Given the description of an element on the screen output the (x, y) to click on. 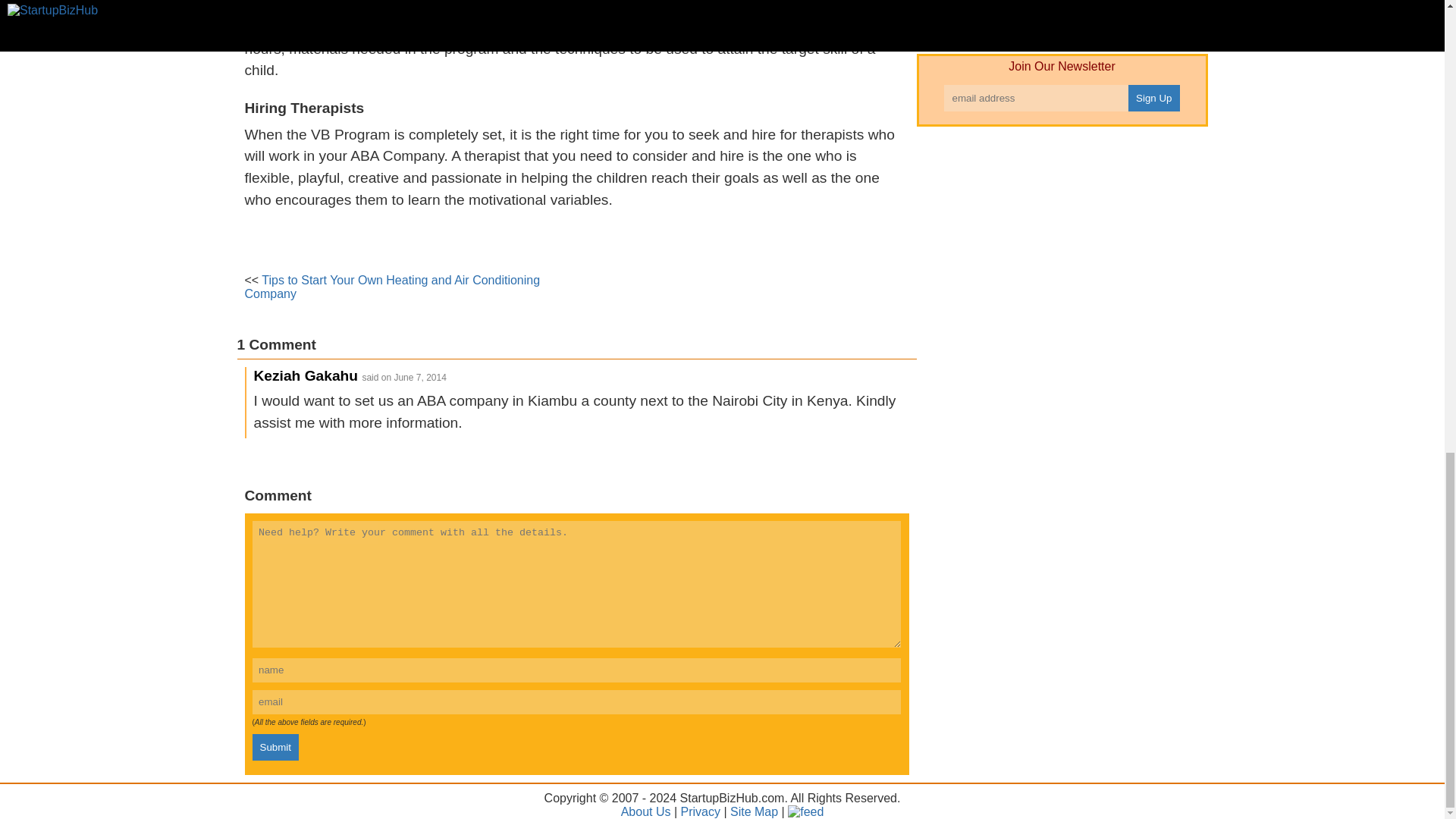
Submit (274, 746)
Tips to Start Your Own Heating and Air Conditioning Company (392, 286)
Submit (274, 746)
Sign Up (1153, 98)
